Given the description of an element on the screen output the (x, y) to click on. 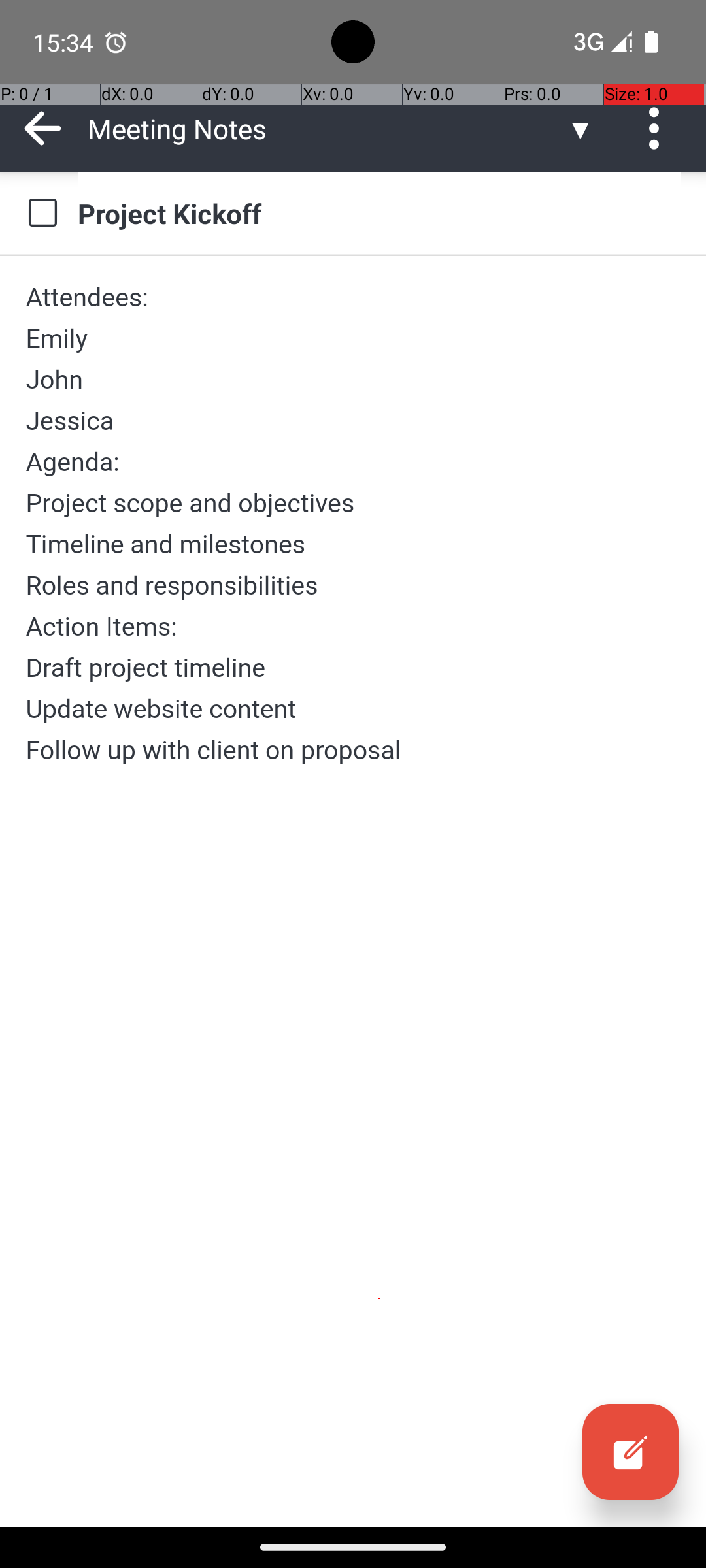
Attendees:
Emily
John
Jessica
Agenda:
Project scope and objectives
Timeline and milestones
Roles and responsibilities
Action Items:
Draft project timeline
Update website content
Follow up with client on proposal Element type: android.widget.TextView (352, 523)
